Given the description of an element on the screen output the (x, y) to click on. 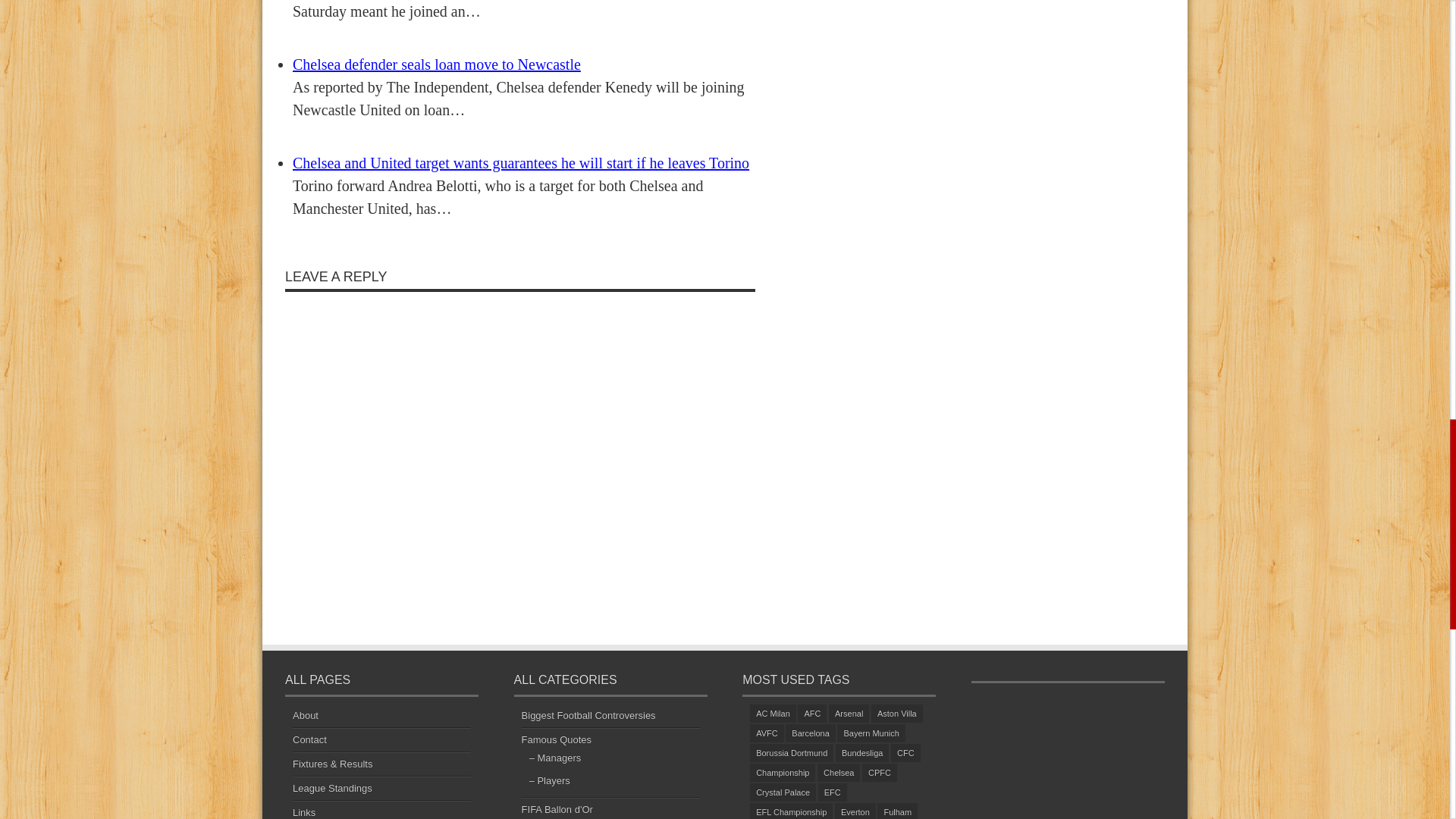
Chelsea defender seals loan move to Newcastle (436, 64)
